Given the description of an element on the screen output the (x, y) to click on. 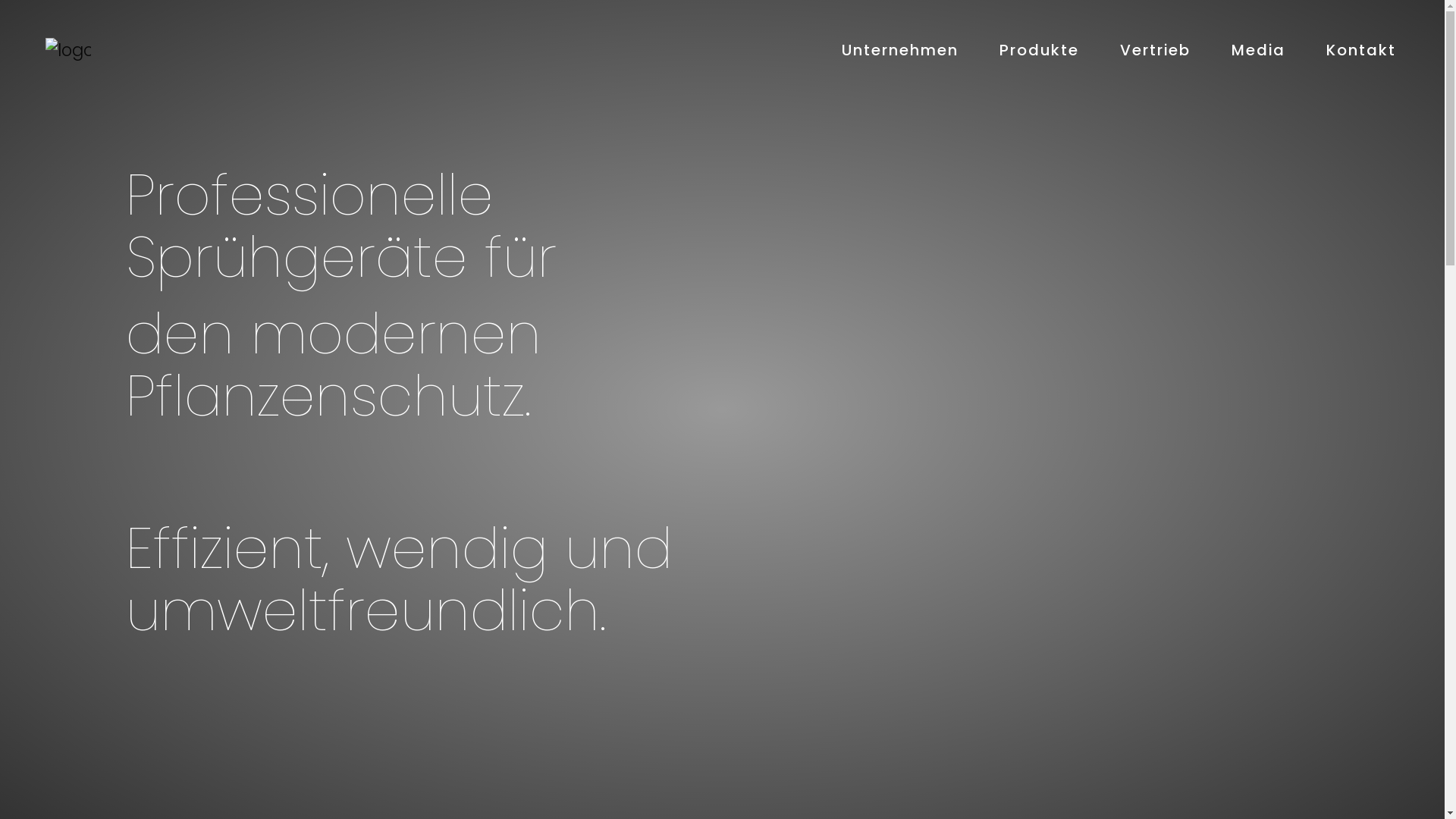
Unternehmen Element type: text (899, 50)
logo Element type: hover (68, 50)
Media Element type: text (1257, 50)
Kontakt Element type: text (1360, 50)
Vertrieb Element type: text (1155, 50)
Produkte Element type: text (1038, 50)
